Given the description of an element on the screen output the (x, y) to click on. 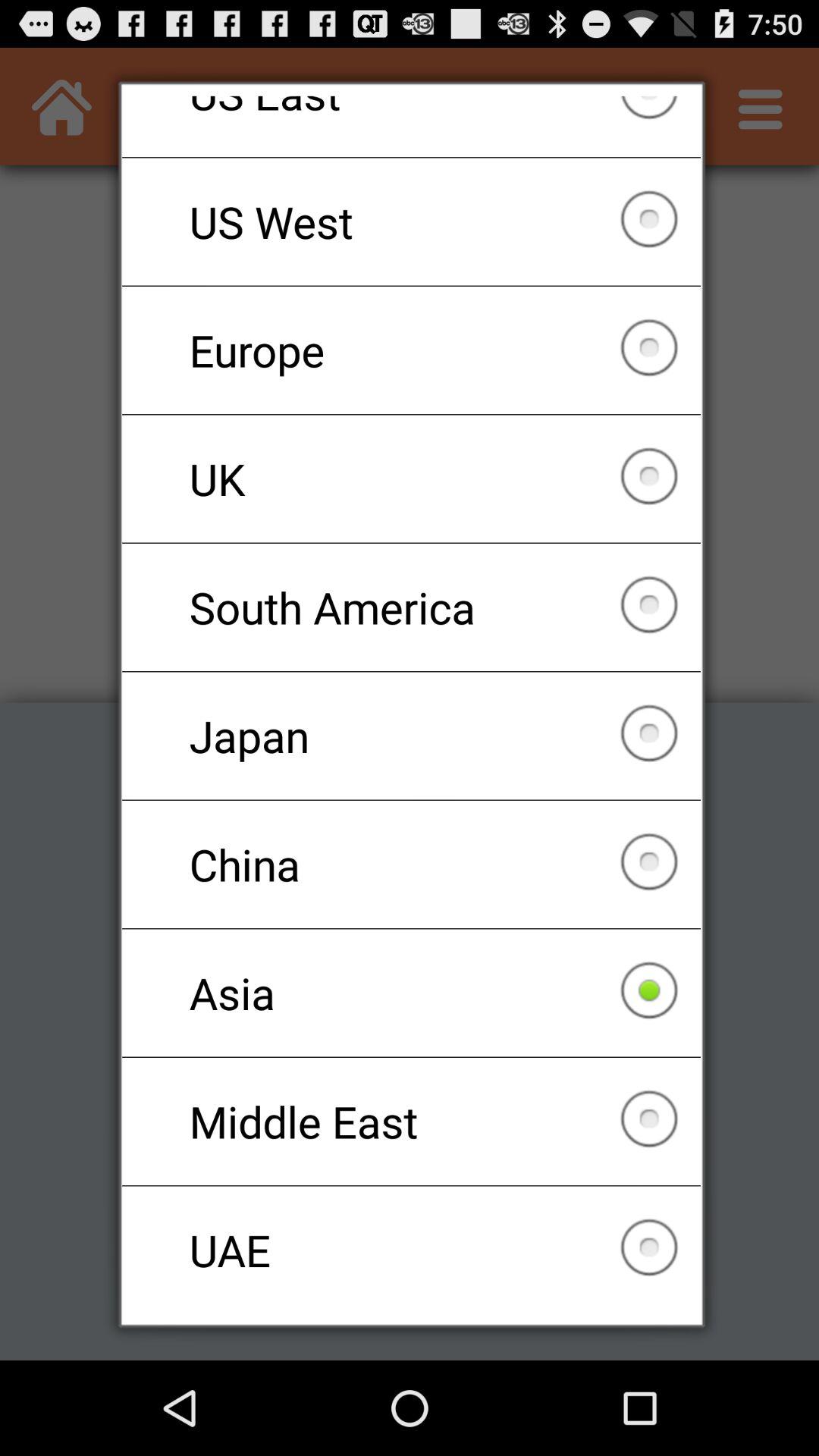
turn off the item below the     asia item (411, 1121)
